Given the description of an element on the screen output the (x, y) to click on. 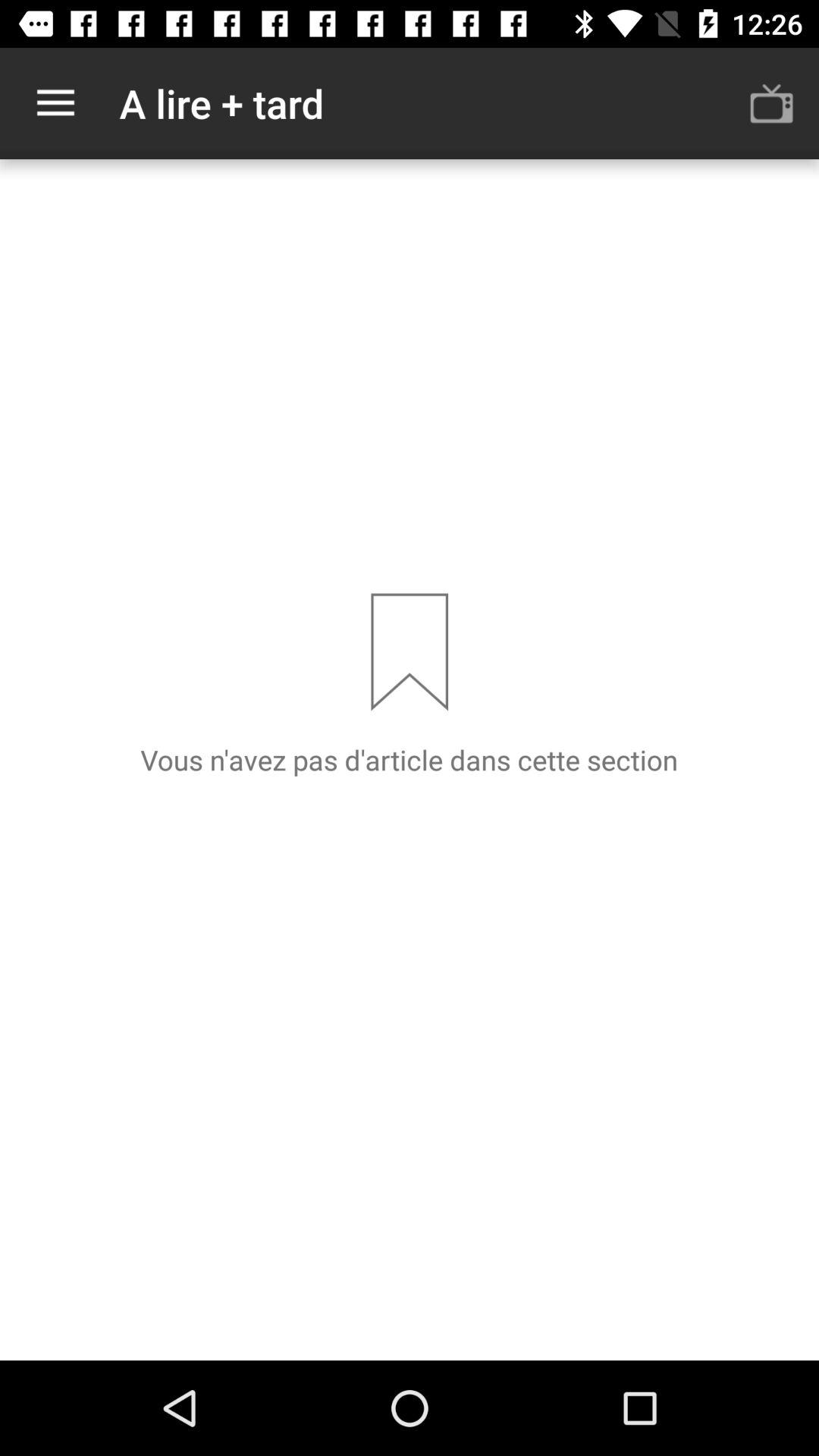
click the item next to the a lire + tard item (771, 103)
